Given the description of an element on the screen output the (x, y) to click on. 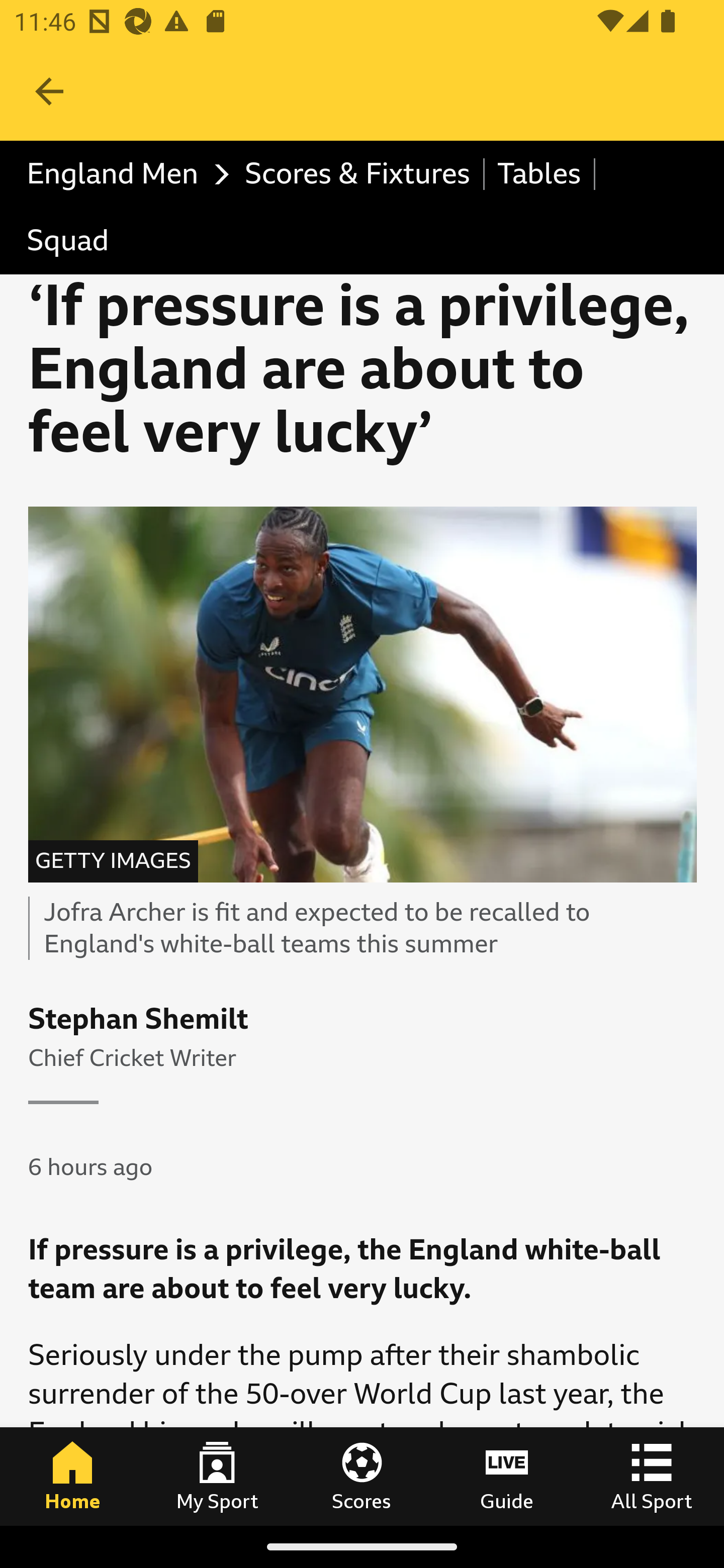
Navigate up (49, 91)
England Men (122, 173)
Scores & Fixtures (357, 173)
Tables (539, 173)
Squad (68, 240)
My Sport (216, 1475)
Scores (361, 1475)
Guide (506, 1475)
All Sport (651, 1475)
